Given the description of an element on the screen output the (x, y) to click on. 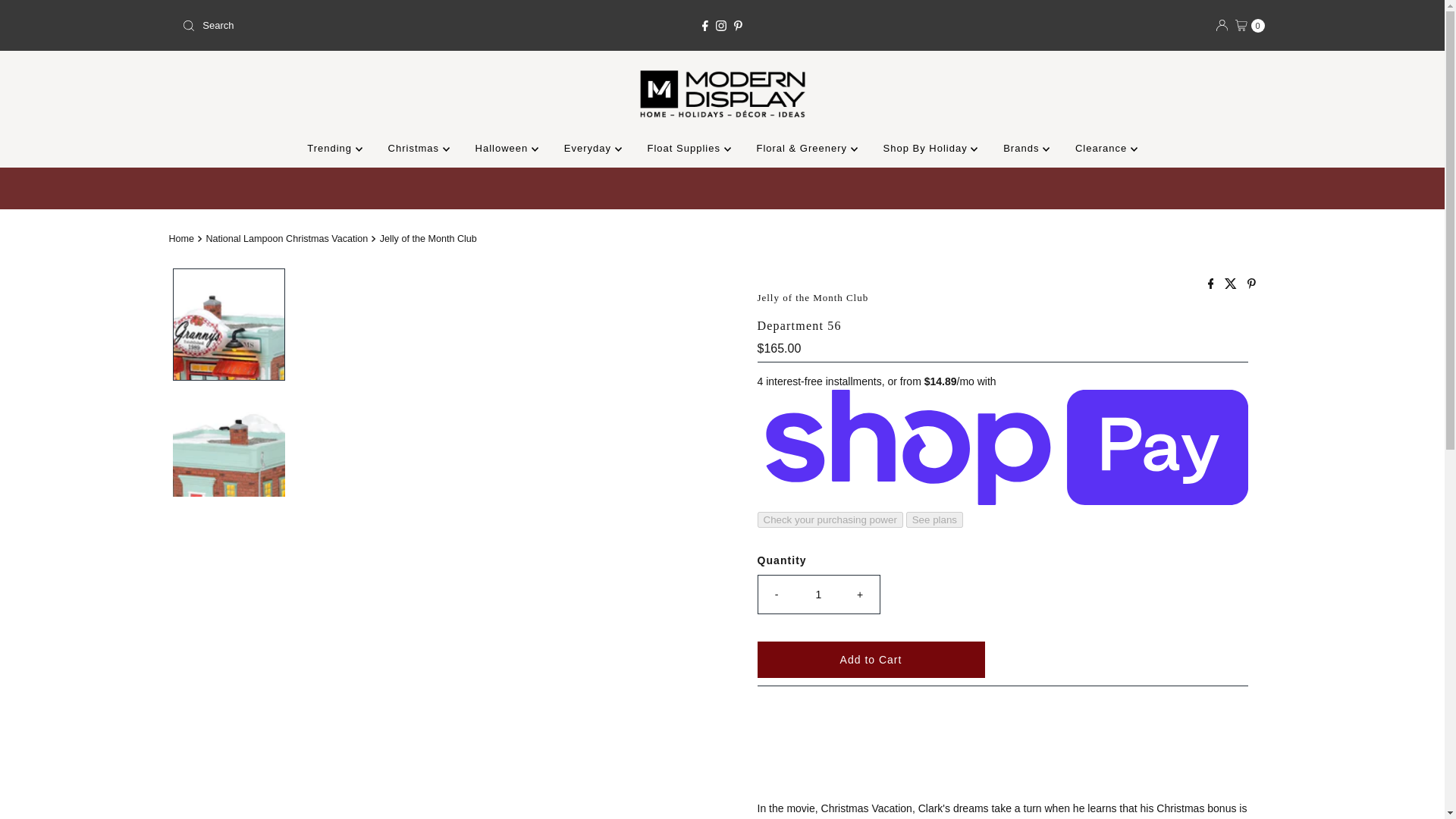
National Lampoon Christmas Vacation (288, 238)
Search our store (353, 25)
Add to Cart (870, 659)
1 (818, 594)
Share on Twitter (1232, 284)
Back to the frontpage (183, 238)
Instagram (721, 25)
Skip to content (51, 18)
